Given the description of an element on the screen output the (x, y) to click on. 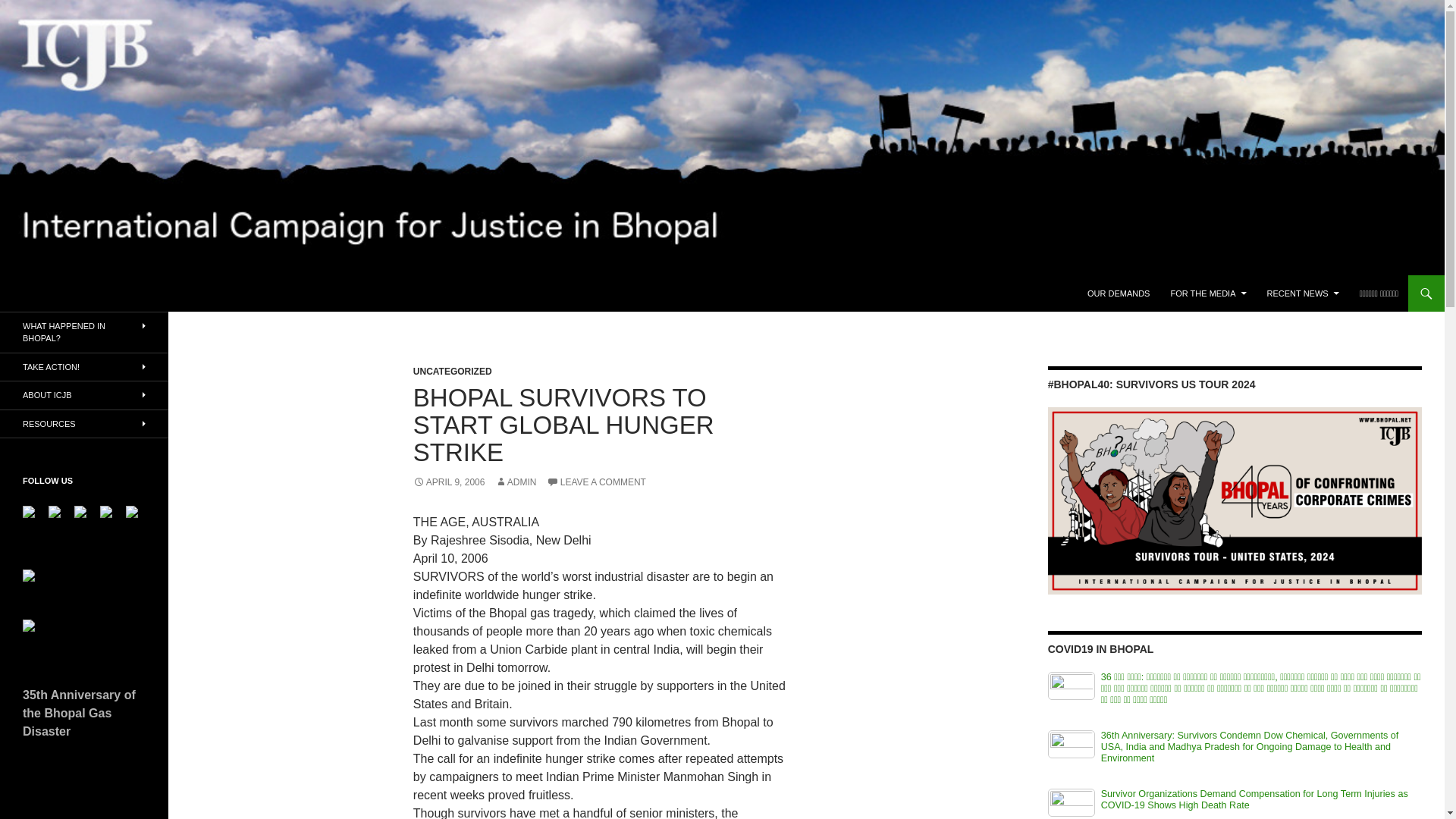
FOR THE MEDIA (1208, 293)
RECENT NEWS (1302, 293)
APRIL 9, 2006 (448, 481)
UNCATEGORIZED (452, 371)
ADMIN (516, 481)
International Campaign for Justice in Bhopal (168, 293)
OUR DEMANDS (1118, 293)
Survivors US Tour Details (1235, 500)
